Given the description of an element on the screen output the (x, y) to click on. 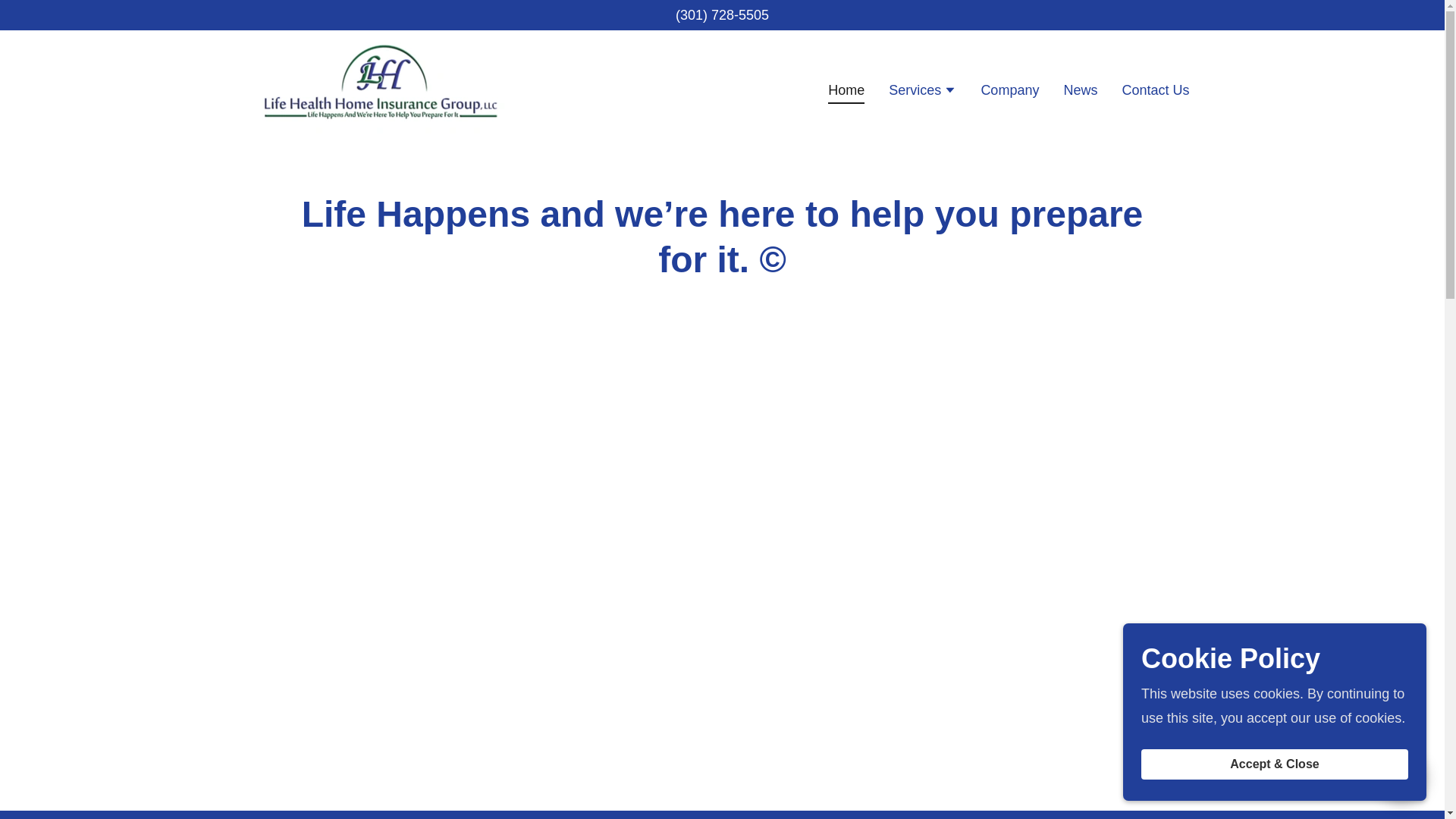
Life Health Home (379, 89)
Company (1009, 89)
Home (846, 92)
Contact Us (1154, 89)
News (1080, 89)
Services (922, 91)
